Given the description of an element on the screen output the (x, y) to click on. 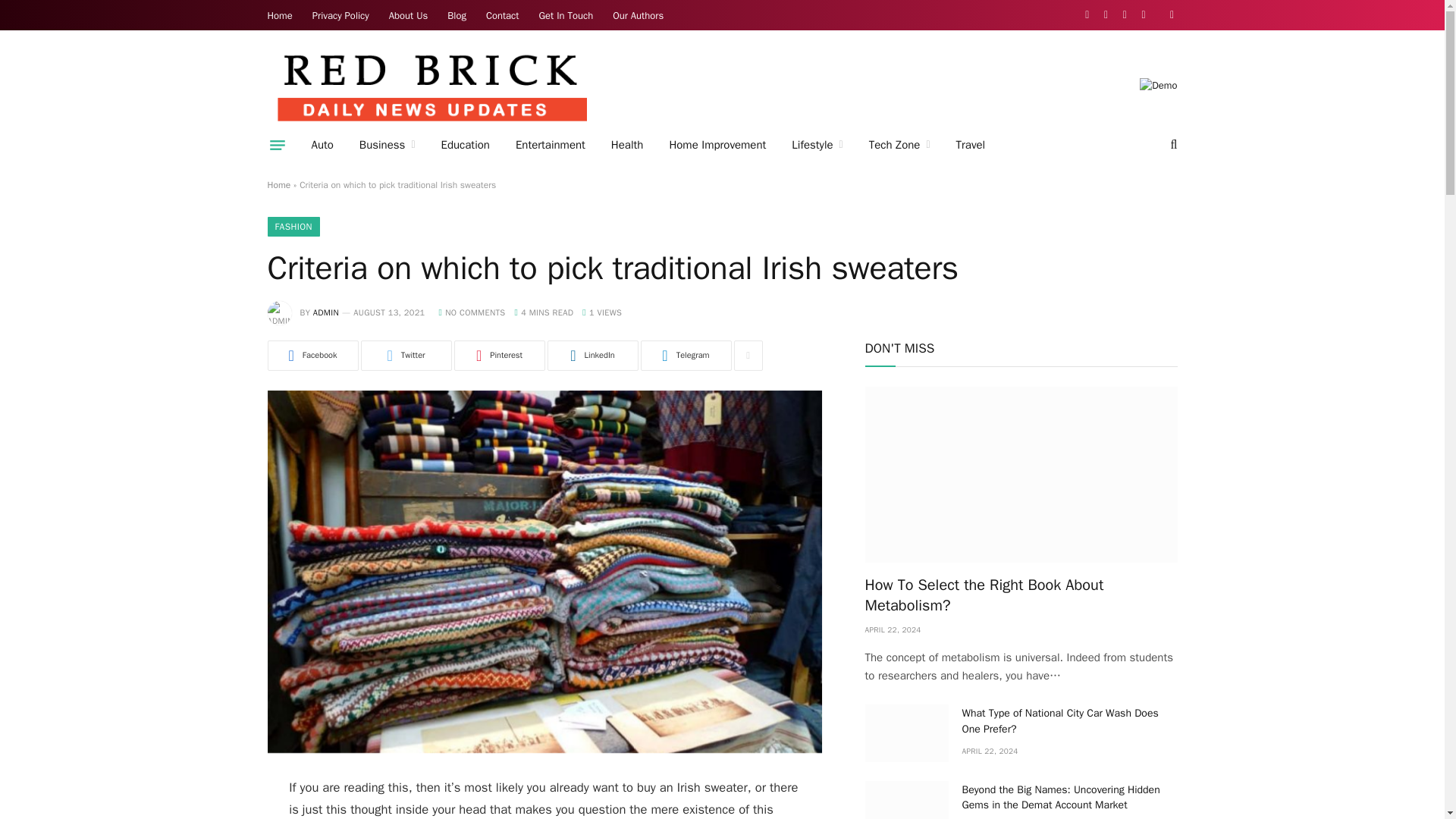
Red Brick (430, 84)
About Us (408, 15)
Switch to Dark Design - easier on eyes. (1169, 14)
Our Authors (637, 15)
Home (279, 15)
Auto (322, 144)
Business (387, 144)
Get In Touch (566, 15)
Contact (502, 15)
Blog (457, 15)
